Given the description of an element on the screen output the (x, y) to click on. 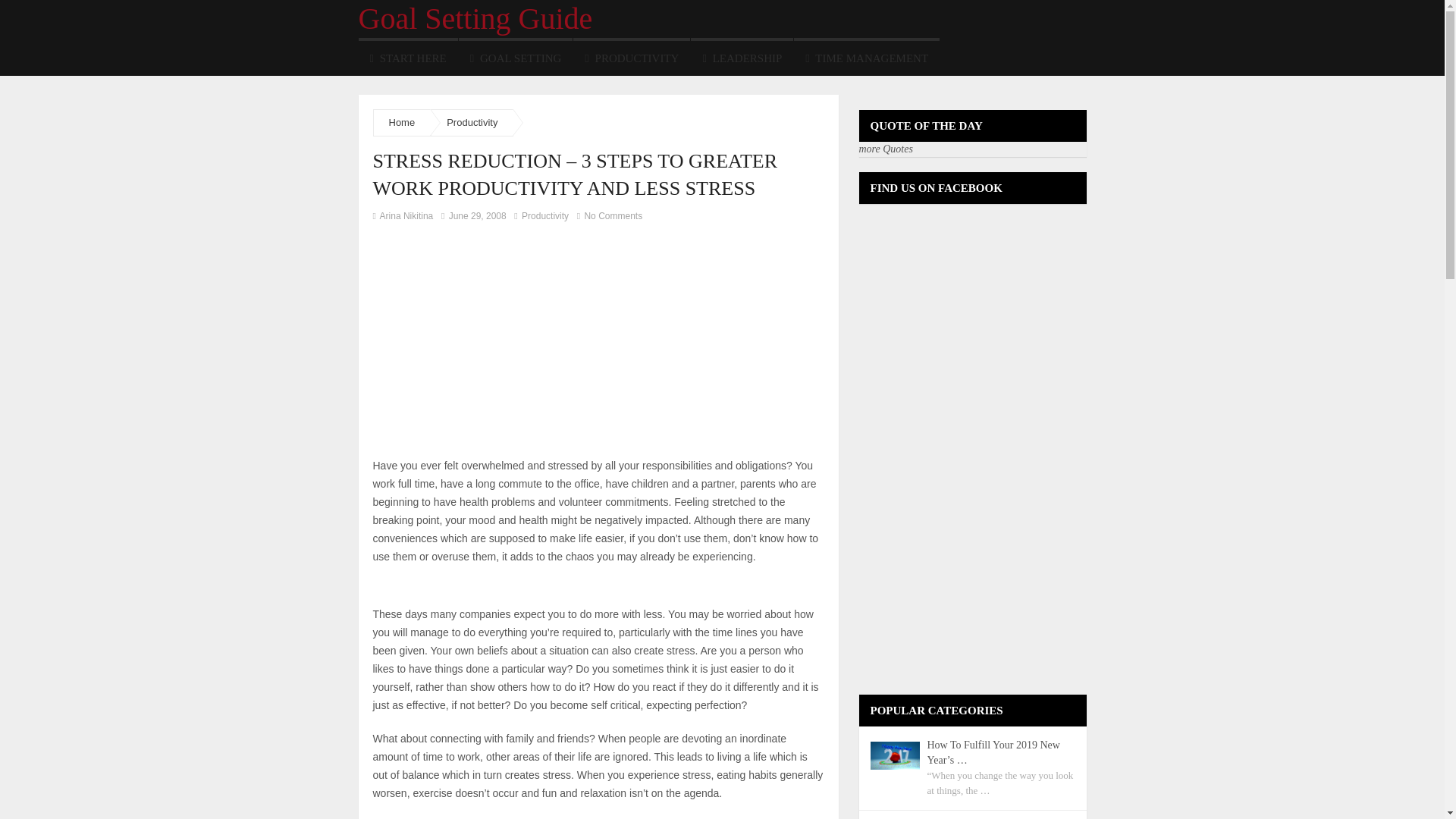
Home (401, 122)
TIME MANAGEMENT (866, 56)
Goal Setting Guide (475, 18)
GOAL SETTING (515, 56)
View all posts in Productivity (545, 215)
START HERE (407, 56)
 No Comments (609, 215)
Productivity (545, 215)
Productivity (471, 122)
more Quotes (885, 148)
PRODUCTIVITY (631, 56)
Advertisement (550, 587)
Advertisement (499, 338)
Arina Nikitina (406, 215)
Posts by Arina Nikitina (406, 215)
